Given the description of an element on the screen output the (x, y) to click on. 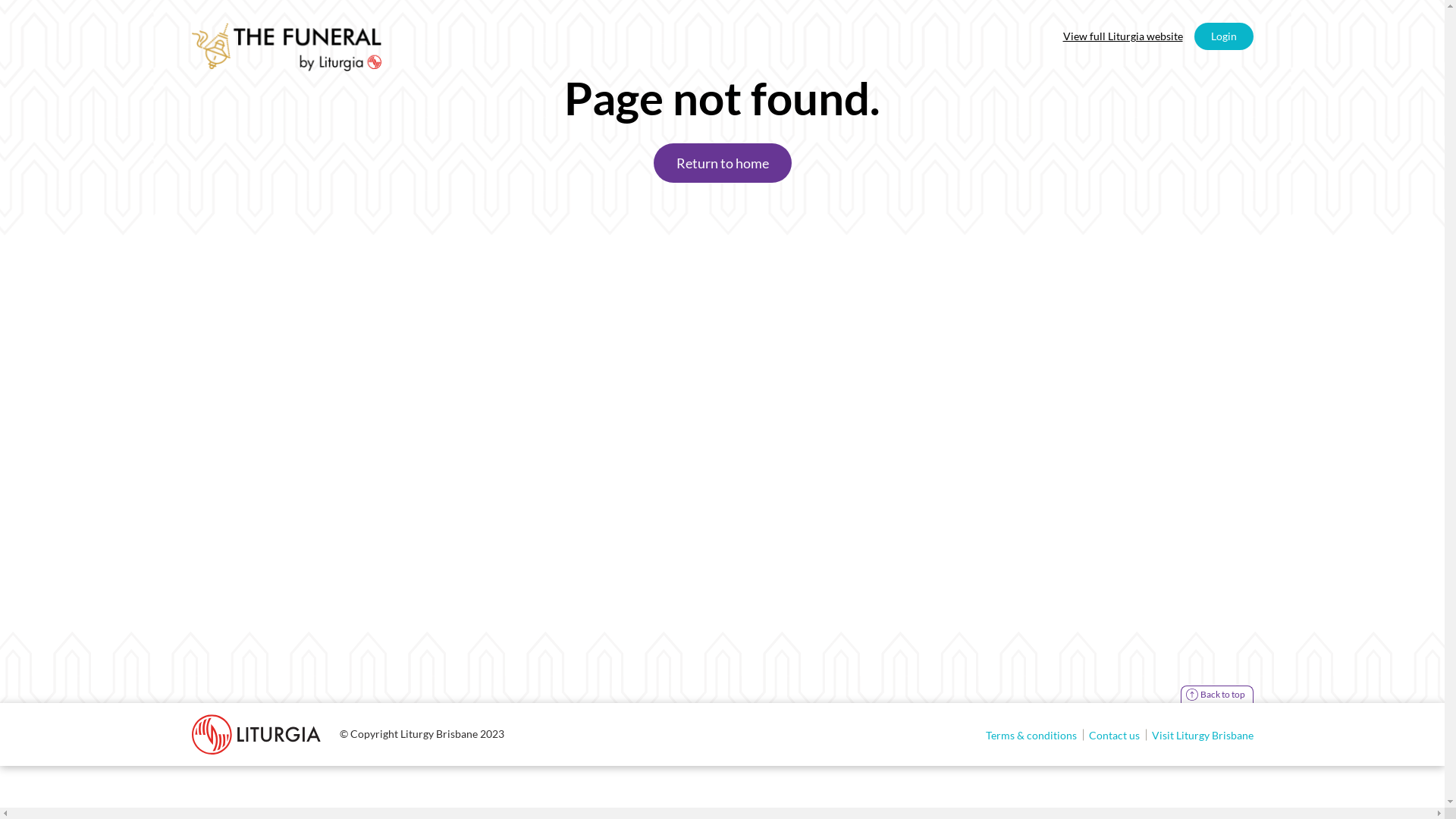
Back to top Element type: text (1215, 693)
Login Element type: text (1222, 36)
View full Liturgia website Element type: text (1123, 36)
Return to home Element type: text (722, 162)
Contact us Element type: text (1113, 734)
Visit Liturgy Brisbane Element type: text (1198, 734)
Terms & conditions Element type: text (1030, 734)
